Given the description of an element on the screen output the (x, y) to click on. 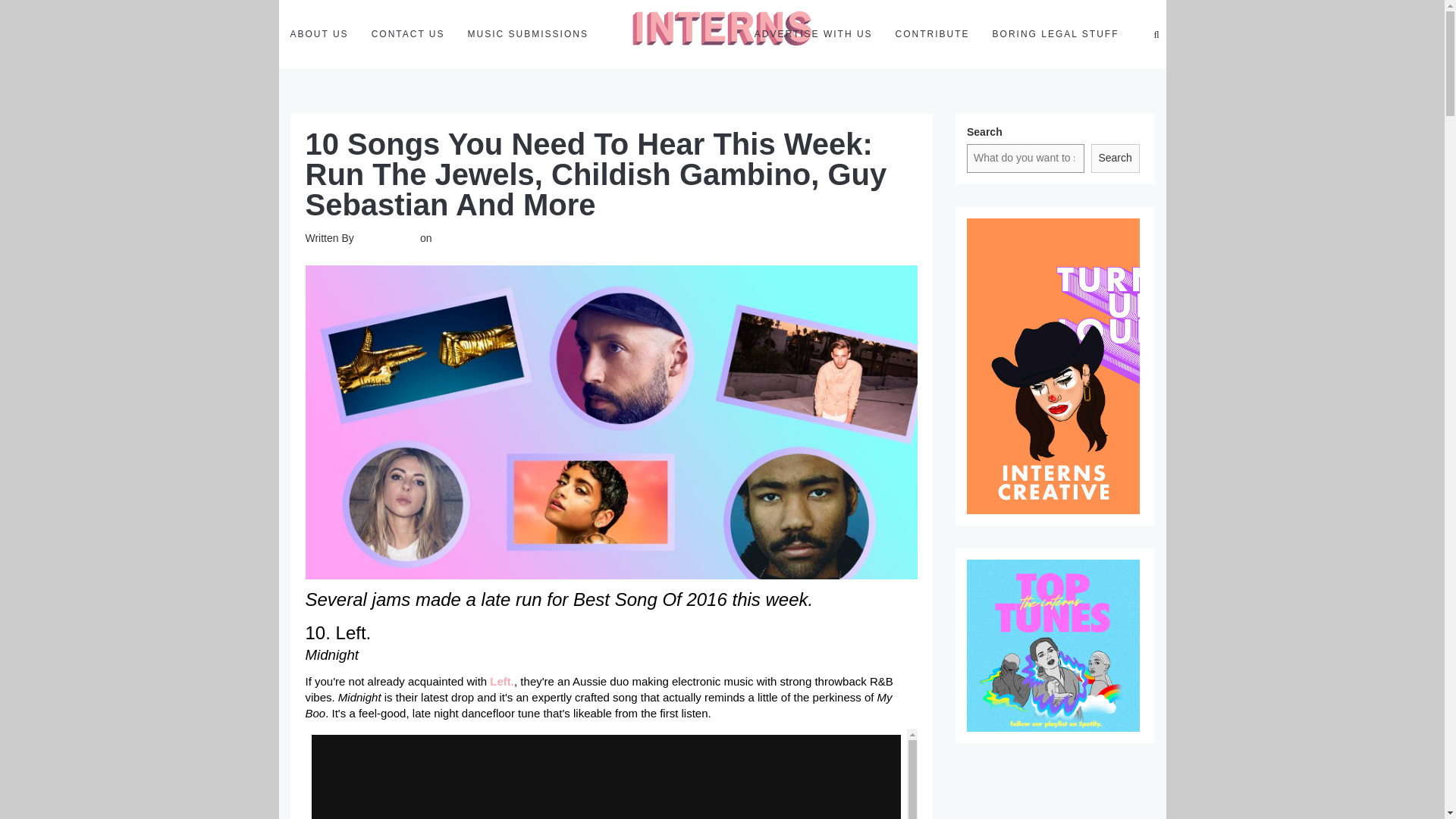
Left. (501, 680)
Advertise With Us (812, 33)
CONTACT US (408, 33)
ADVERTISE WITH US (812, 33)
MUSIC SUBMISSIONS (528, 33)
Sam Murphy (386, 237)
CONTRIBUTE (932, 33)
BORING LEGAL STUFF (1056, 33)
ABOUT US (319, 33)
Search (1115, 158)
